Given the description of an element on the screen output the (x, y) to click on. 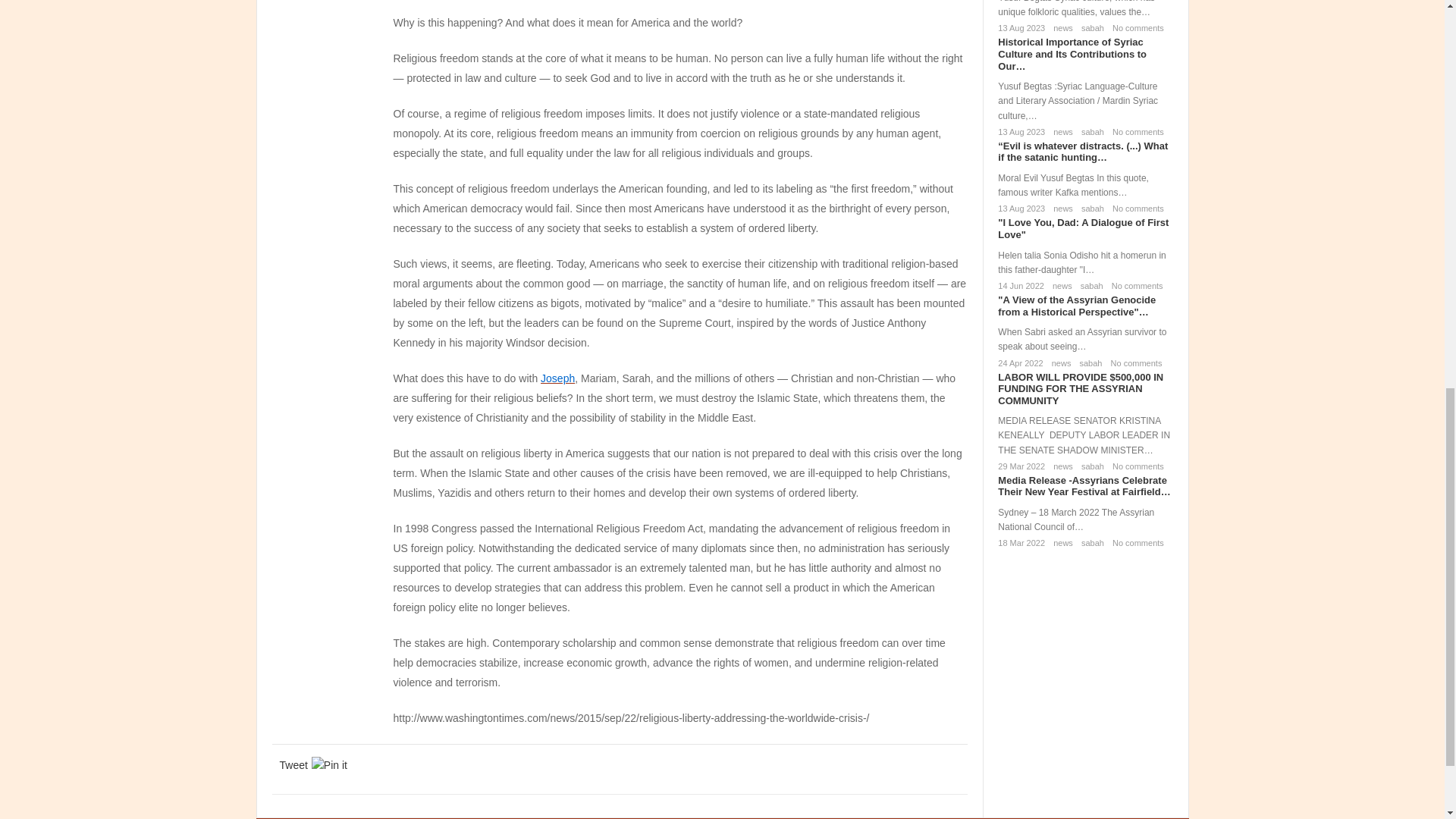
Pin it (329, 764)
Tweet (293, 764)
Joseph (557, 378)
I Love You, Dad: A Dialogue of First Love (1083, 228)
